Given the description of an element on the screen output the (x, y) to click on. 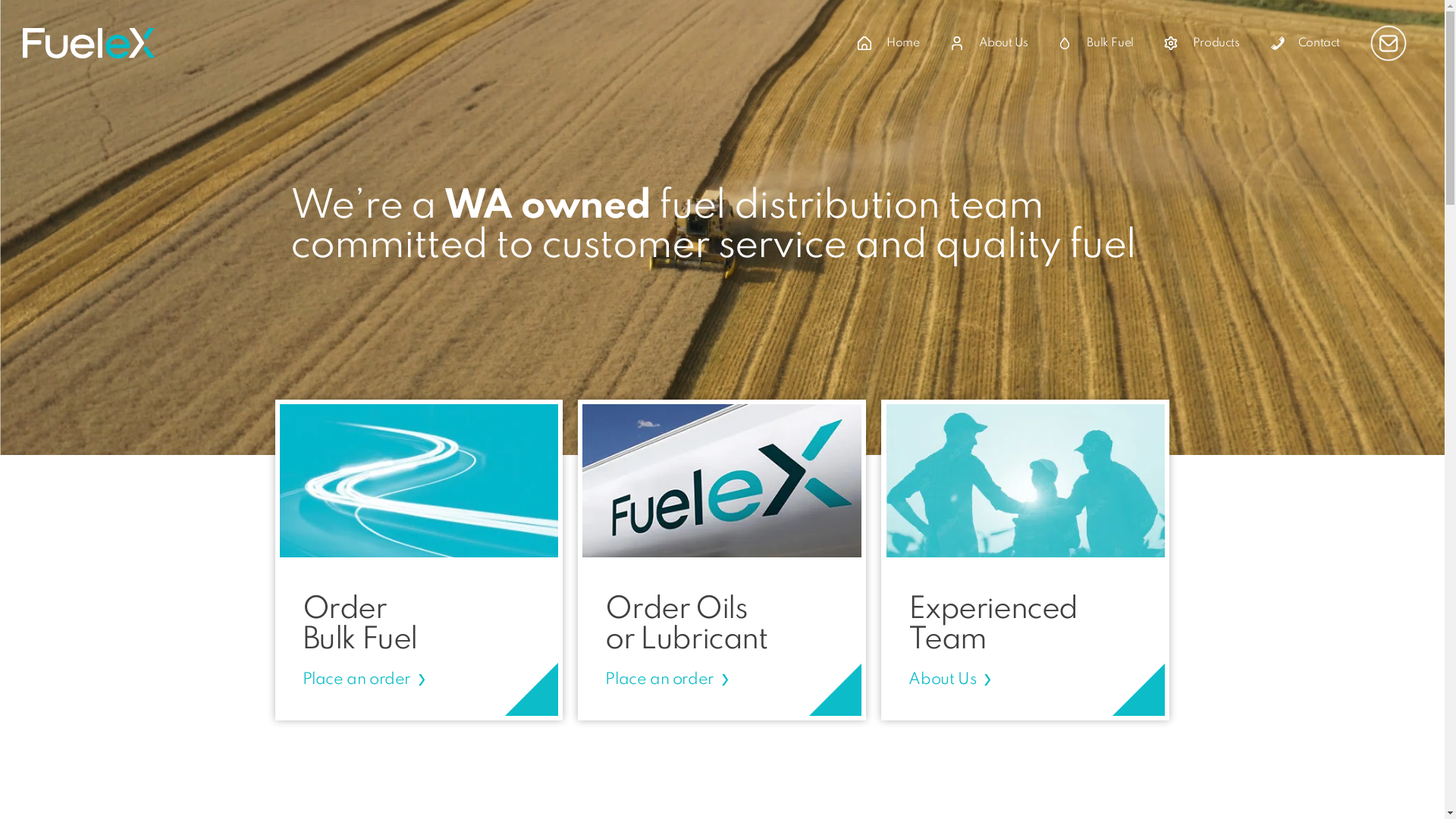
Place an order Element type: text (355, 680)
Order
Bulk Fuel Element type: text (358, 624)
About Us Element type: text (941, 680)
About Us Element type: text (989, 43)
Home Element type: text (888, 43)
Experienced
Team Element type: text (992, 624)
Order Oils
or Lubricant Element type: text (685, 624)
Products Element type: text (1201, 43)
Place an order Element type: text (658, 680)
Bulk Fuel Element type: text (1095, 43)
  Contact Element type: text (1305, 43)
